Given the description of an element on the screen output the (x, y) to click on. 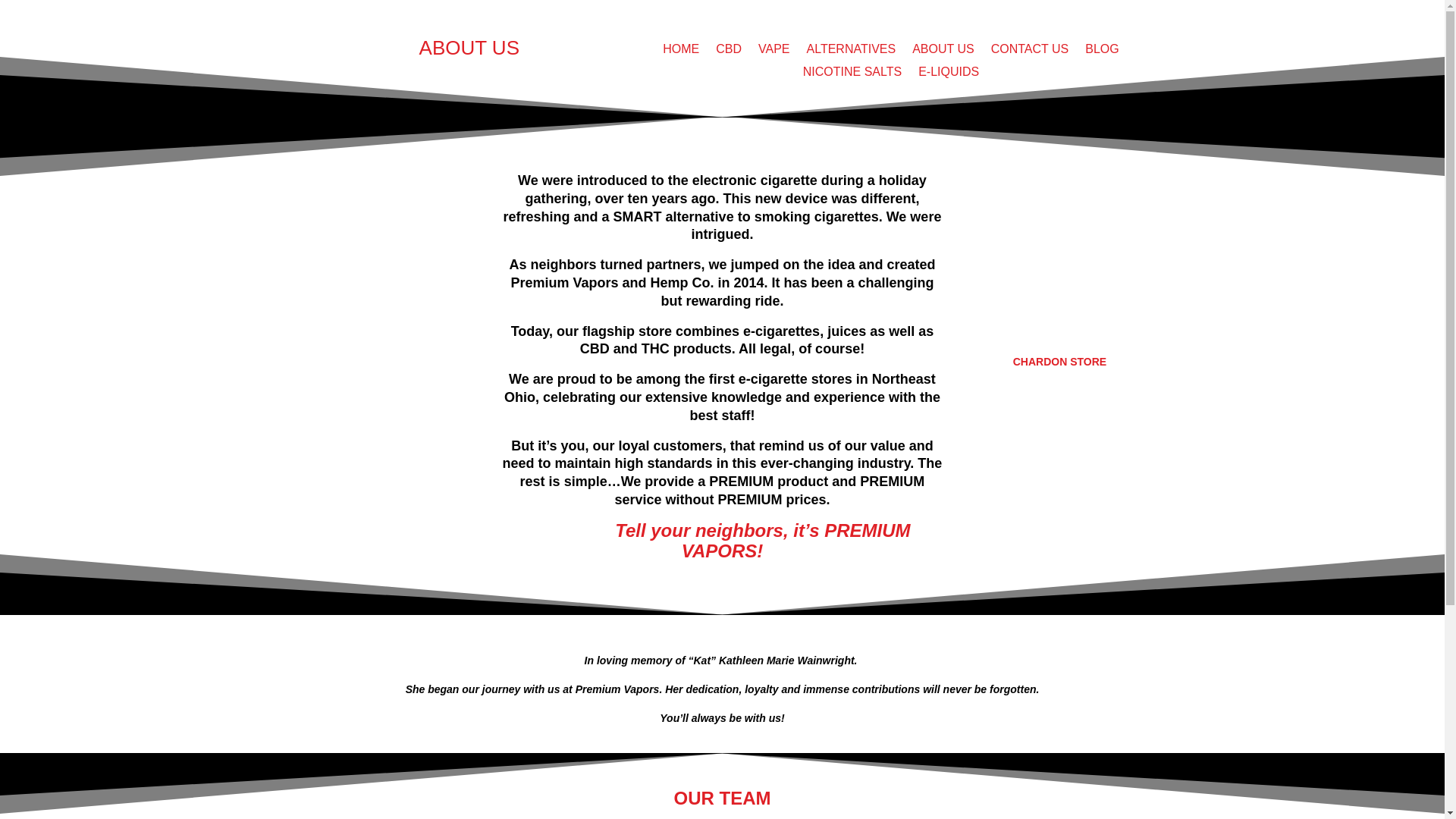
ABOUT US (943, 52)
BLOG (1101, 52)
NICOTINE SALTS (852, 74)
ALTERNATIVES (851, 52)
E-LIQUIDS (948, 74)
Our Story (943, 52)
CBD (728, 52)
VAPE (774, 52)
CONTACT US (1029, 52)
HOME (680, 52)
